Given the description of an element on the screen output the (x, y) to click on. 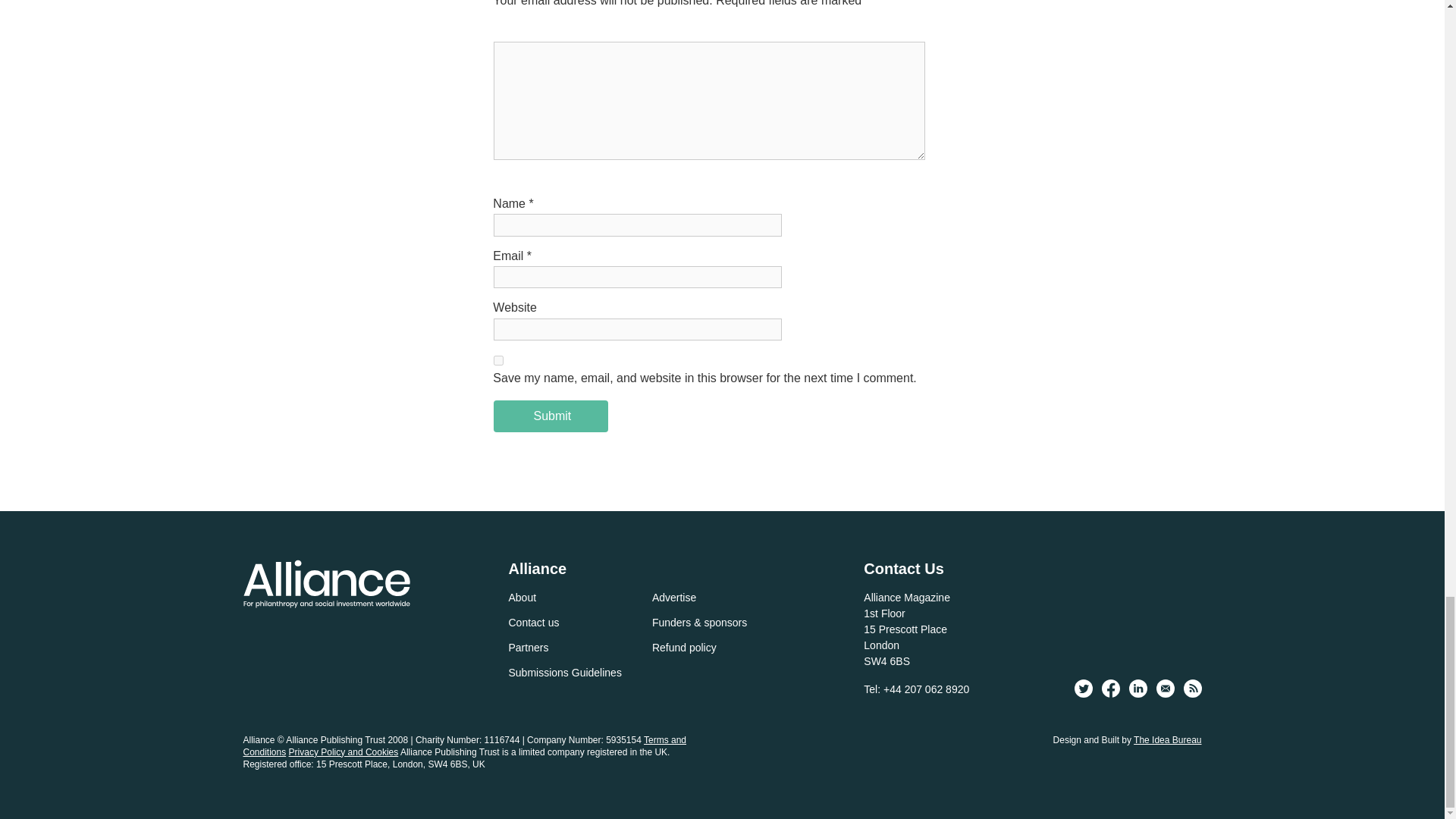
Submit (550, 416)
yes (498, 360)
